Given the description of an element on the screen output the (x, y) to click on. 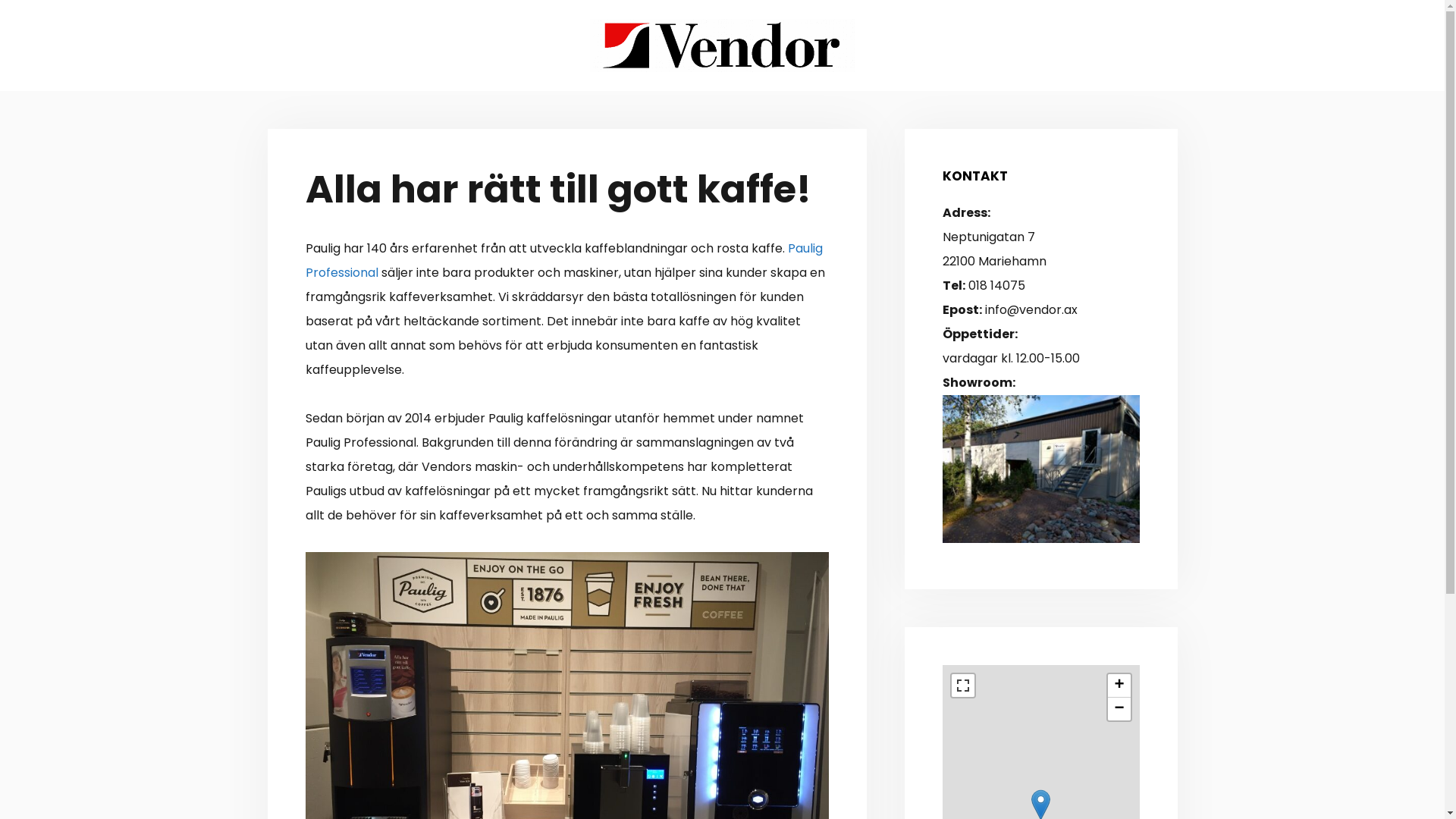
Paulig Professional Element type: text (563, 260)
View Fullscreen Element type: hover (961, 684)
+ Element type: text (1118, 684)
